Given the description of an element on the screen output the (x, y) to click on. 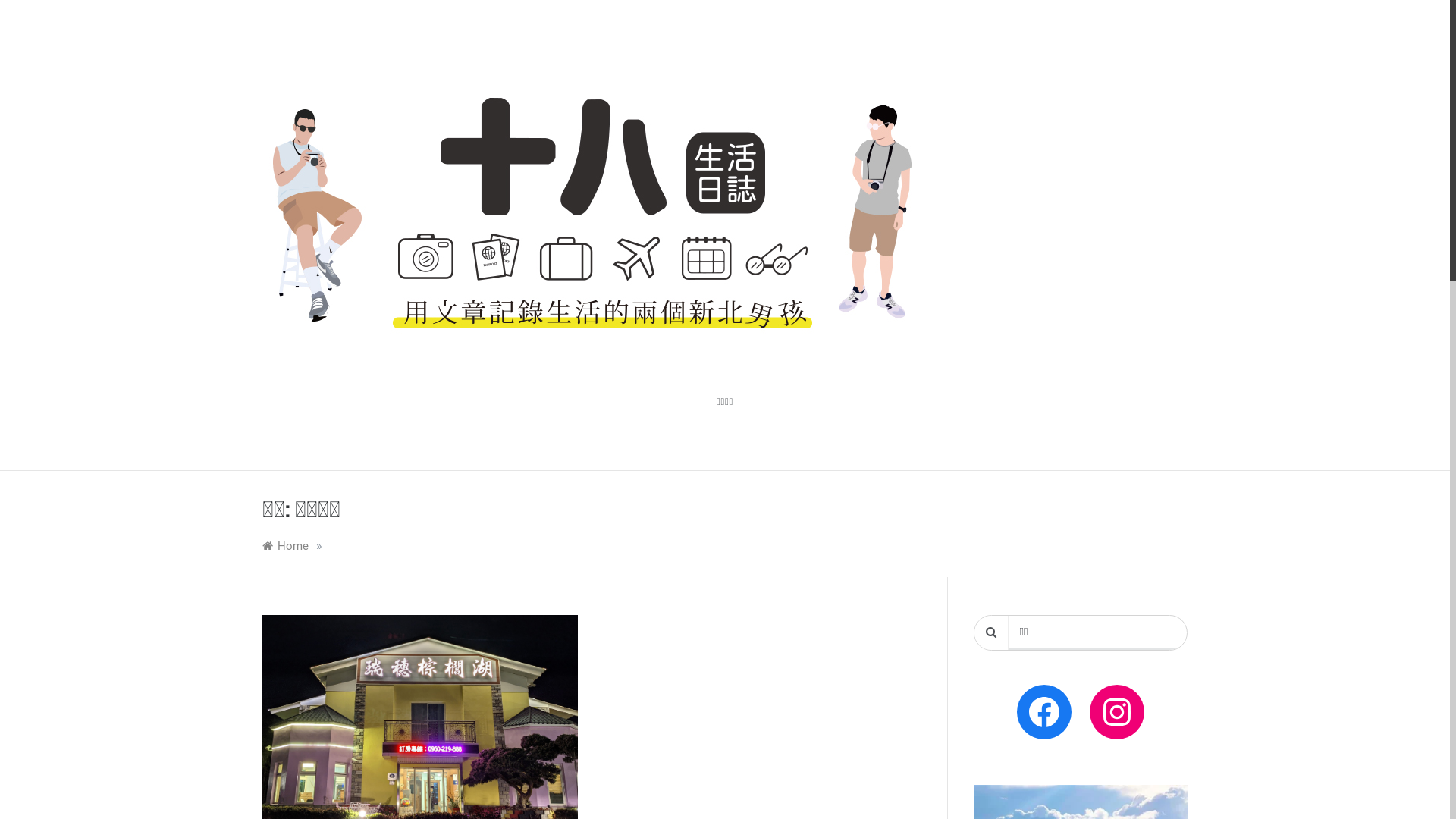
Facebook Element type: text (1043, 711)
Home Element type: text (285, 545)
Instagram Element type: text (1116, 711)
